Given the description of an element on the screen output the (x, y) to click on. 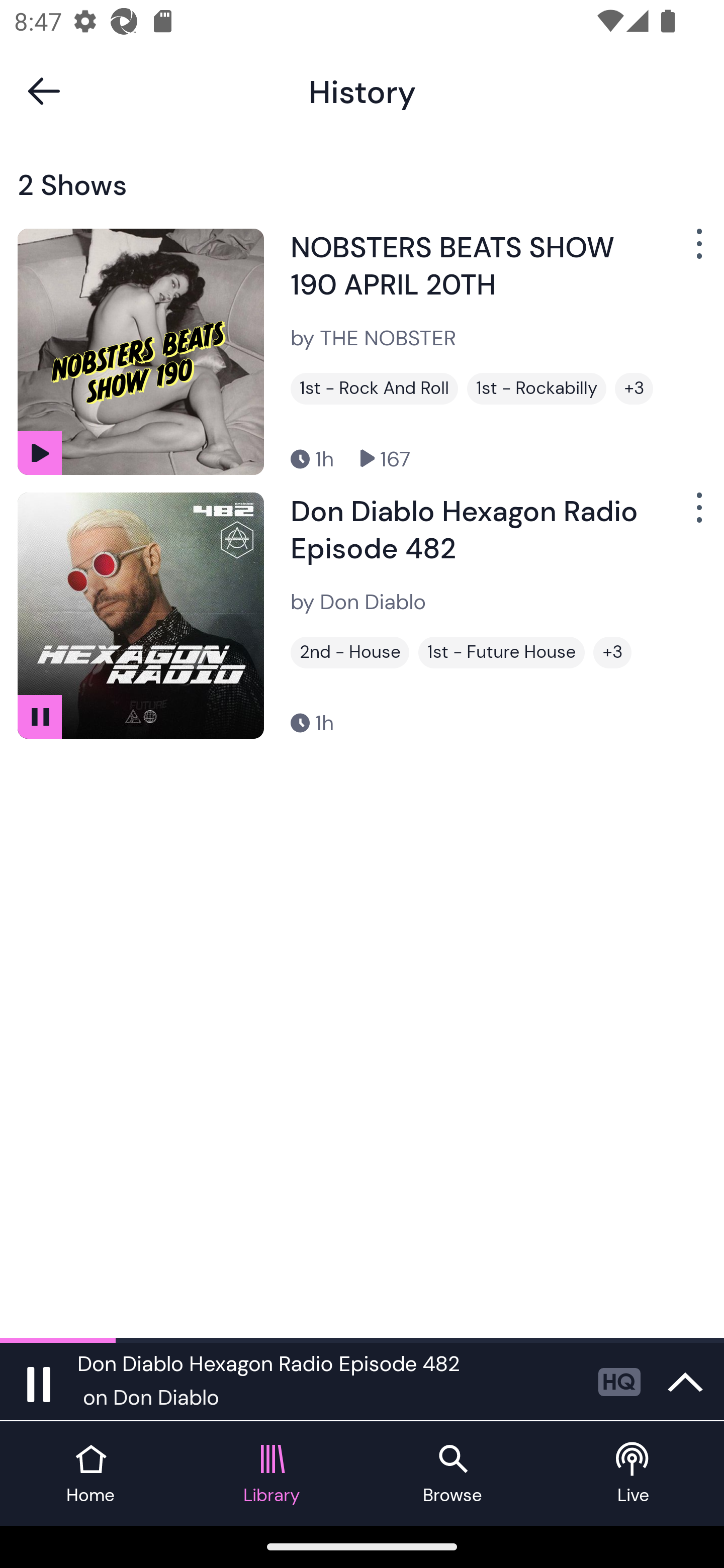
Show Options Menu Button (697, 251)
1st - Rock And Roll (374, 388)
1st - Rockabilly (536, 388)
Show Options Menu Button (697, 514)
2nd - House (349, 651)
1st - Future House (501, 651)
Home tab Home (90, 1473)
Library tab Library (271, 1473)
Browse tab Browse (452, 1473)
Live tab Live (633, 1473)
